Given the description of an element on the screen output the (x, y) to click on. 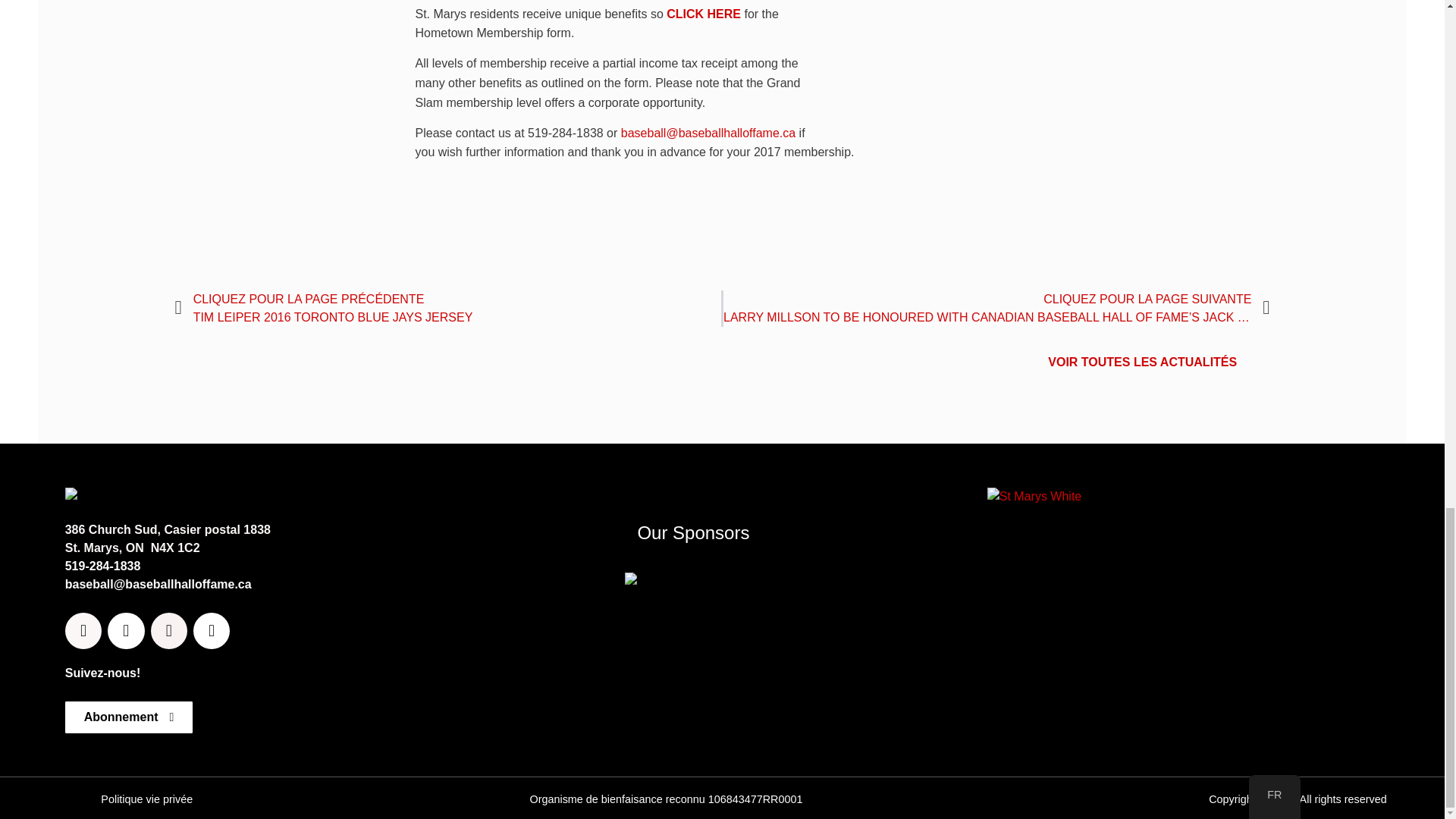
386 Church St. South, St Marys, On (1174, 622)
St Marys White (1034, 496)
cbhfm-logo-french-clr (126, 496)
